Given the description of an element on the screen output the (x, y) to click on. 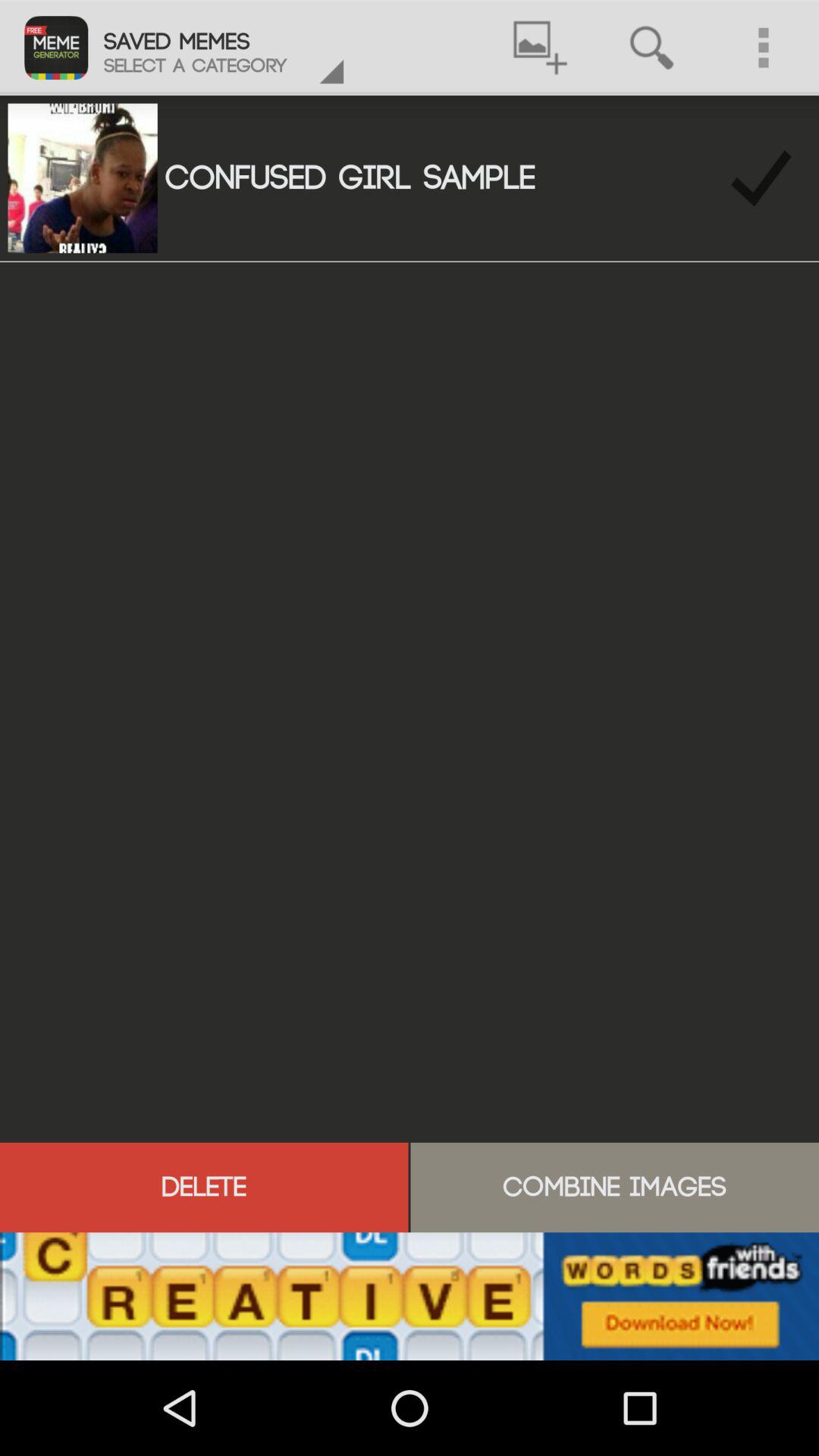
go to right button (761, 178)
